Given the description of an element on the screen output the (x, y) to click on. 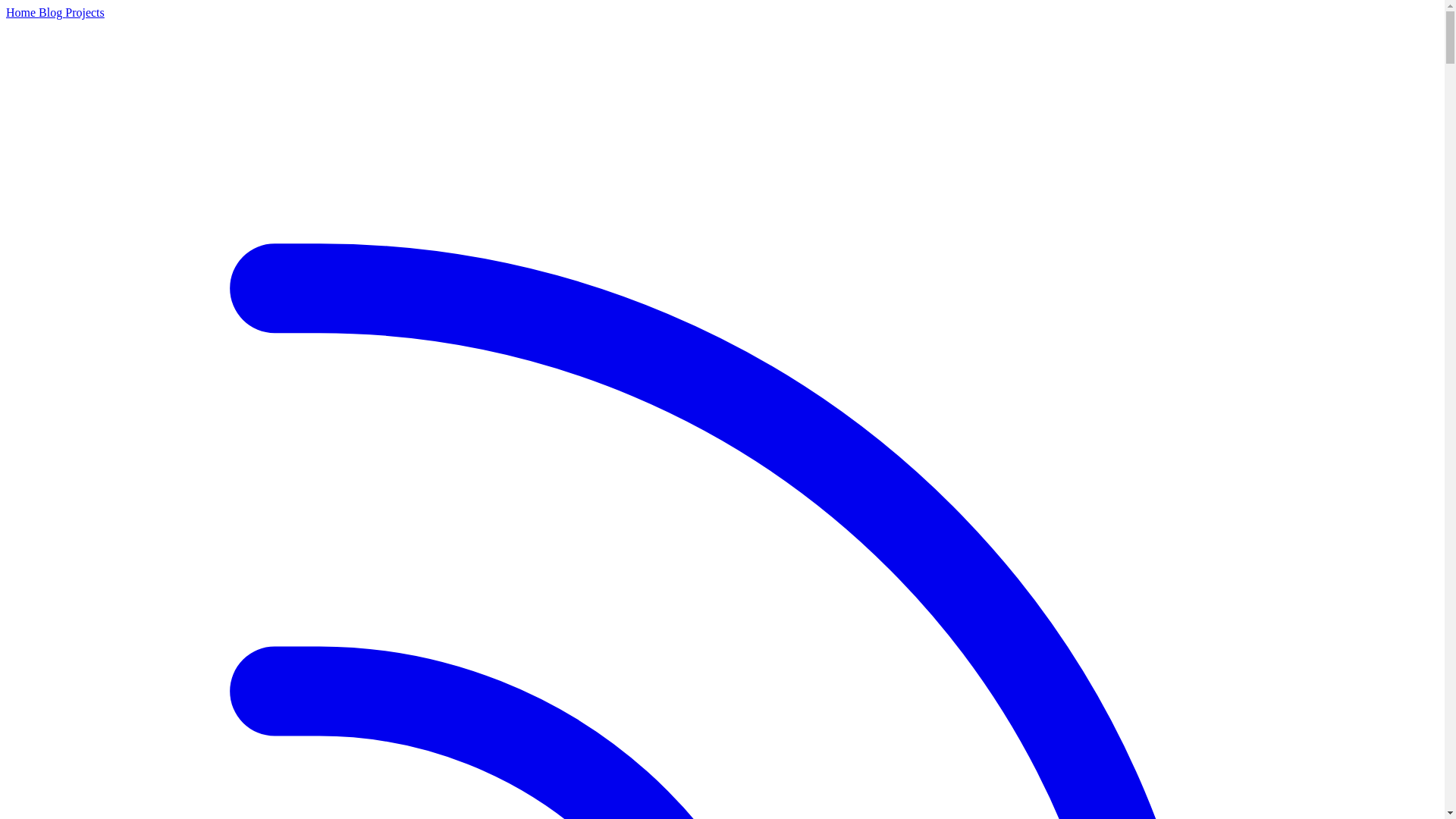
Projects (84, 11)
Blog (52, 11)
Home (22, 11)
